Given the description of an element on the screen output the (x, y) to click on. 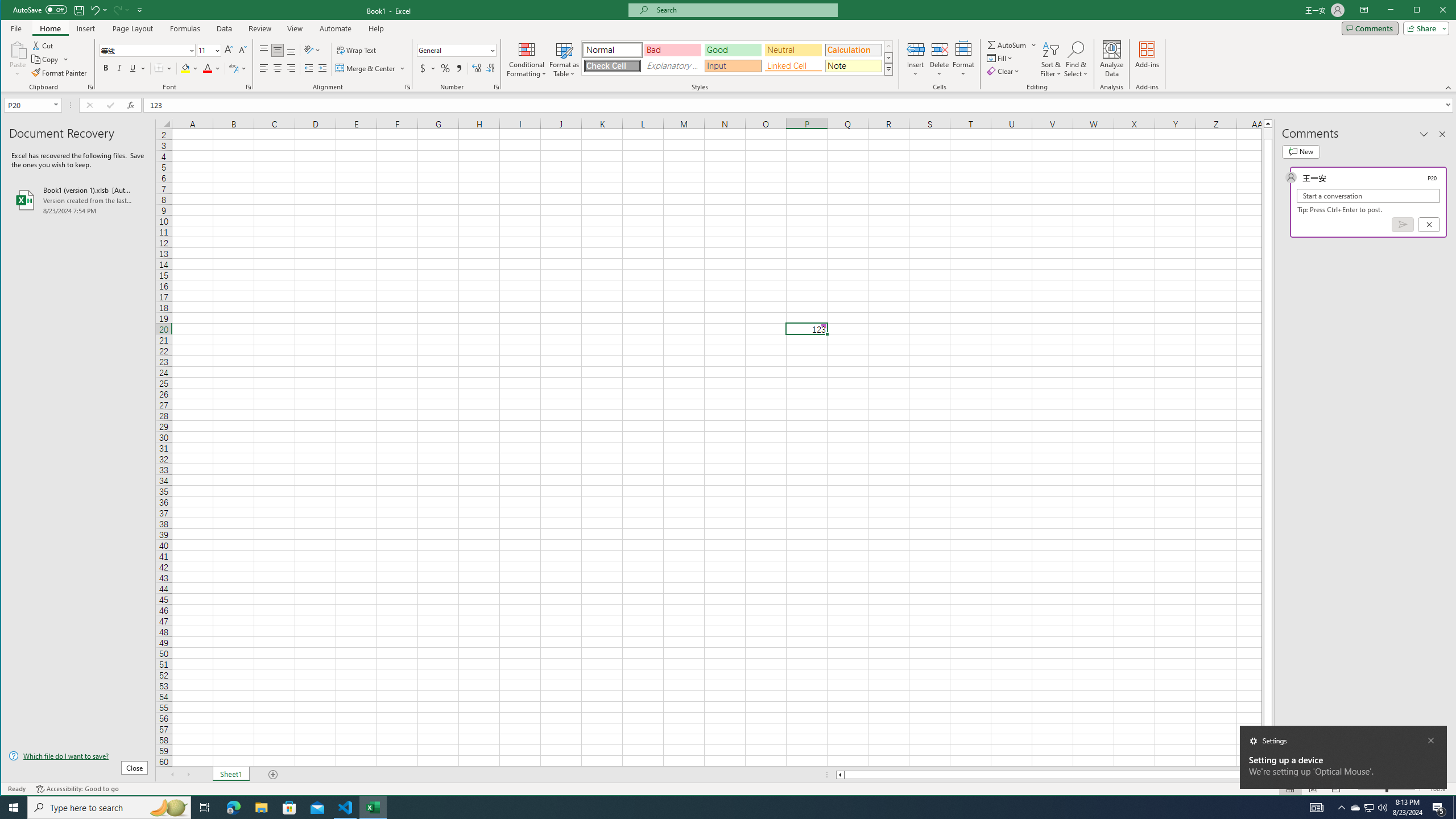
Customize Quick Access Toolbar (140, 9)
Comment (697, 59)
Equation (884, 48)
Save (79, 9)
Maximize (1432, 11)
Class: MsoCommandBar (728, 45)
Insert Pie or Doughnut Chart (350, 70)
SmartArt... (248, 44)
Link (659, 59)
Cancel (1428, 224)
Open (56, 105)
Zoom (1386, 788)
Search highlights icon opens search home window (167, 807)
3D Models (211, 48)
Running applications (717, 807)
